Given the description of an element on the screen output the (x, y) to click on. 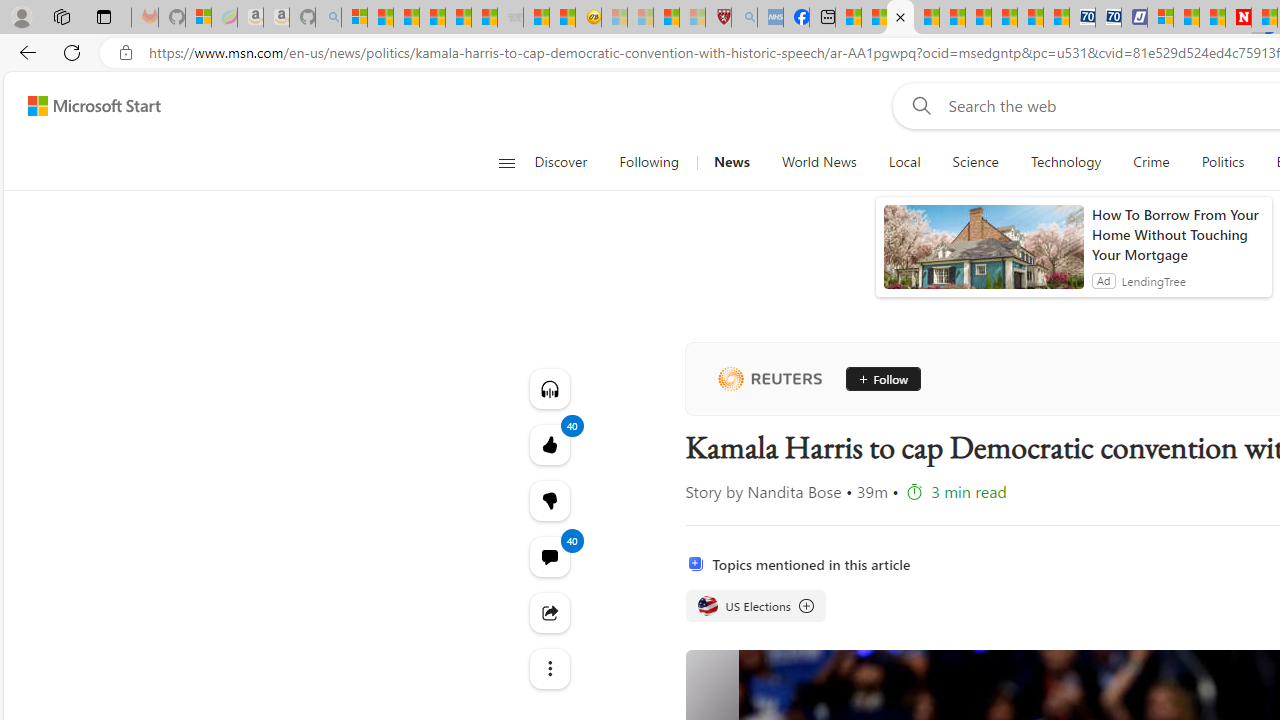
40 Like (548, 444)
Technology (1065, 162)
Dislike (548, 500)
Politics (1222, 162)
Discover (560, 162)
Science (975, 162)
World News (818, 162)
Listen to this article (548, 388)
Robert H. Shmerling, MD - Harvard Health (718, 17)
US Elections (754, 605)
Follow (882, 378)
Local (904, 162)
